Given the description of an element on the screen output the (x, y) to click on. 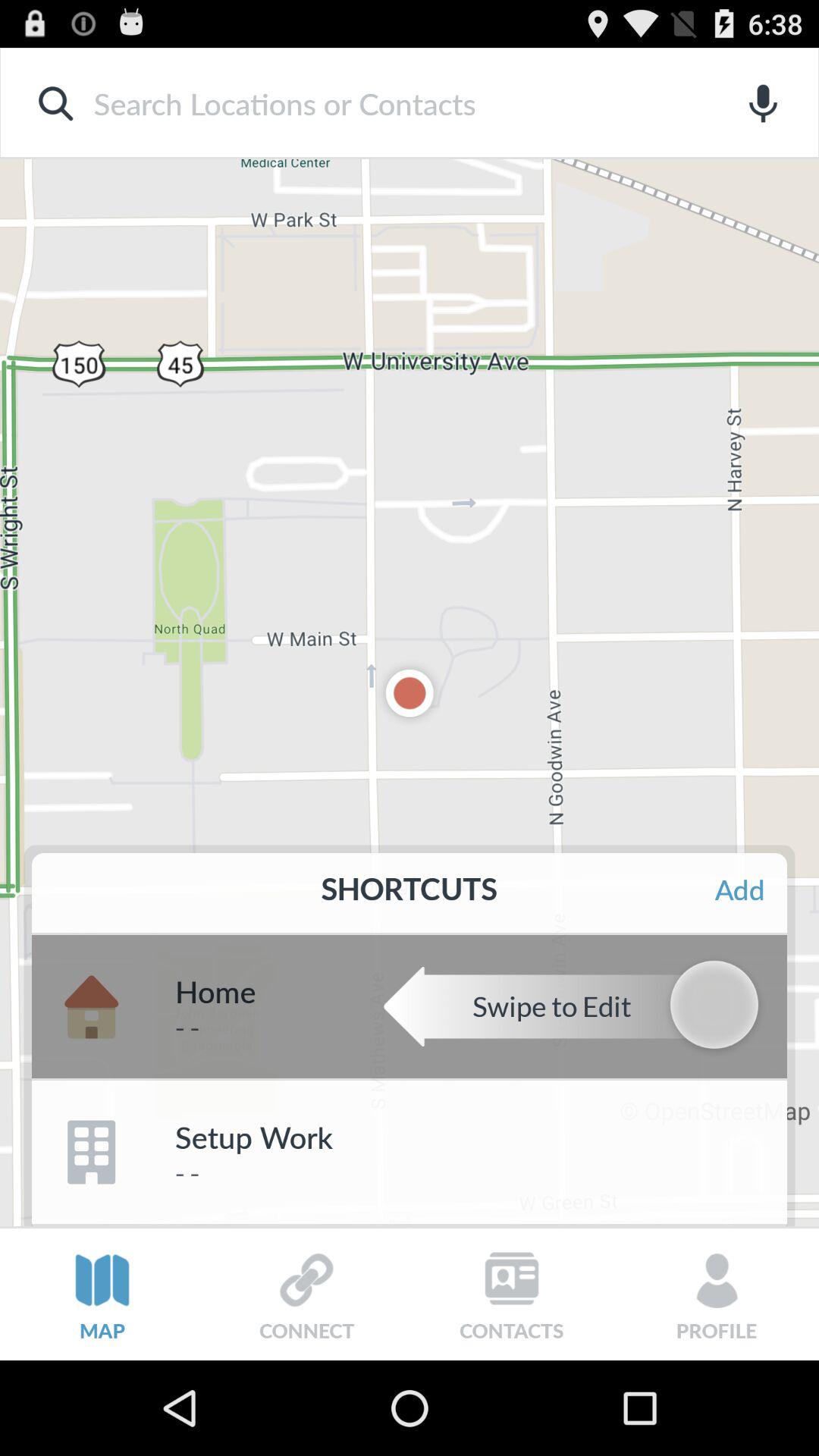
open search (385, 103)
